Given the description of an element on the screen output the (x, y) to click on. 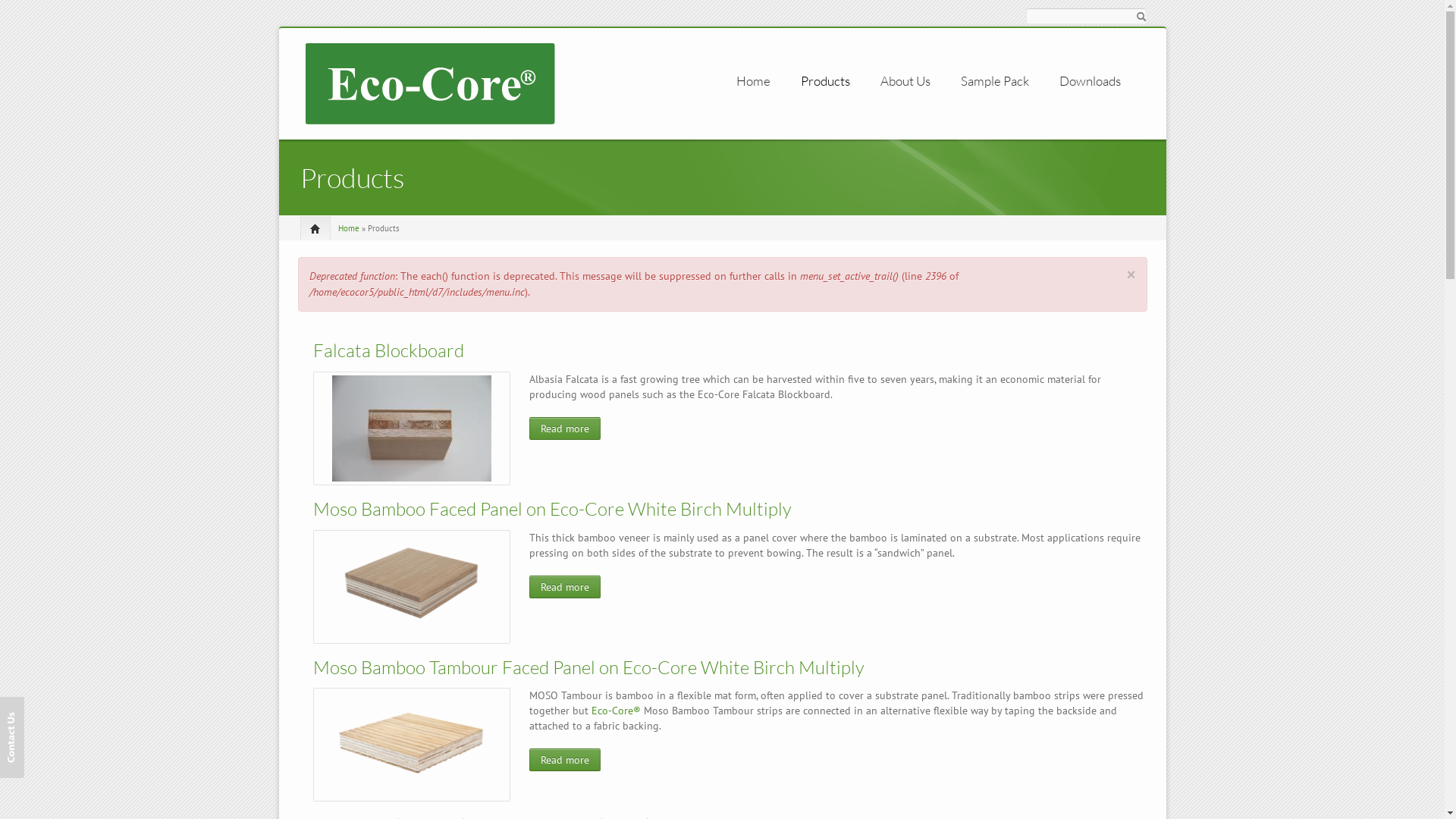
Sample Pack Element type: text (994, 80)
About Us Element type: text (904, 80)
Read more Element type: text (564, 586)
Home Element type: text (752, 80)
Read more Element type: text (564, 759)
Enter the terms you wish to search for. Element type: hover (1085, 15)
Moso Bamboo Faced Panel on Eco-Core White Birch Multiply Element type: text (551, 508)
Read more Element type: text (564, 428)
Downloads Element type: text (1089, 80)
Home Element type: text (348, 227)
Home Element type: hover (429, 82)
Falcata Blockboard Element type: text (387, 349)
